Given the description of an element on the screen output the (x, y) to click on. 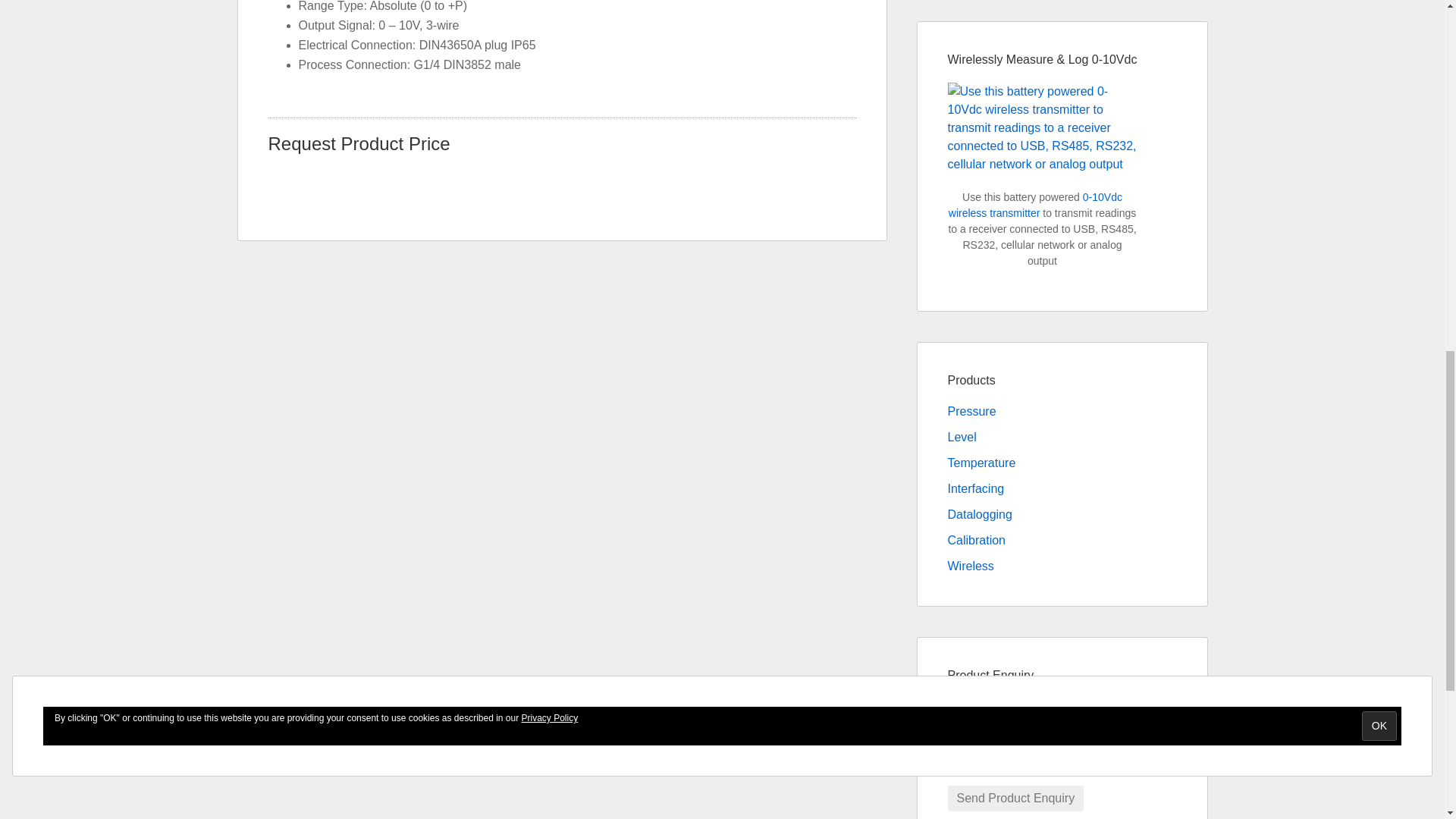
Wireless (970, 565)
Level (961, 436)
Calibration (976, 540)
Interfacing (975, 488)
Send Product Enquiry (1015, 798)
0-10Vdc wireless transmitter (1035, 204)
Pressure (971, 410)
Datalogging (979, 513)
Send Product Enquiry (1015, 798)
Temperature (981, 462)
